Given the description of an element on the screen output the (x, y) to click on. 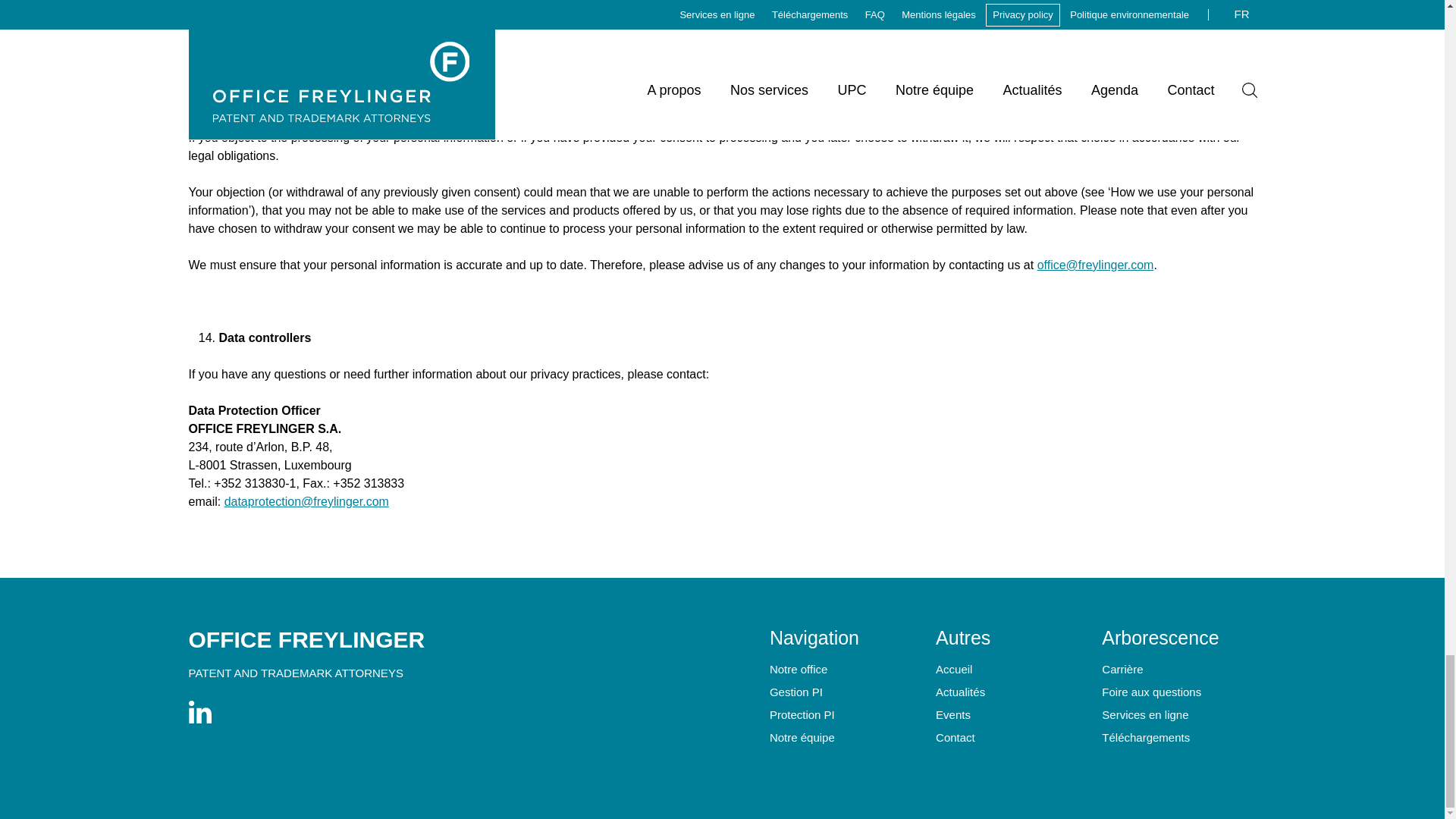
LinkedIn (199, 714)
